Given the description of an element on the screen output the (x, y) to click on. 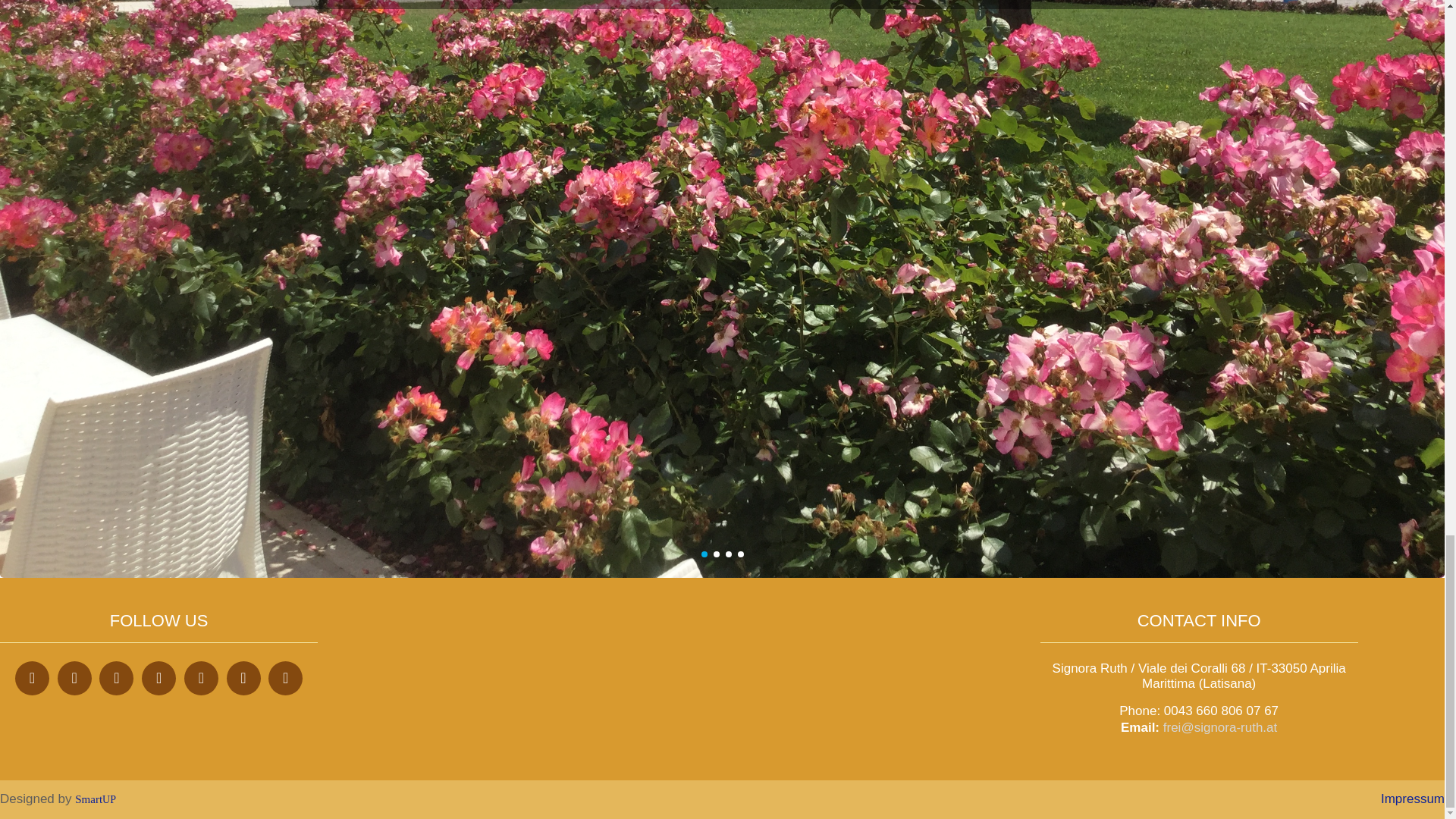
2 (716, 554)
Next (1284, 52)
3 (727, 554)
Prev (160, 52)
4 (739, 554)
1 (703, 554)
